Given the description of an element on the screen output the (x, y) to click on. 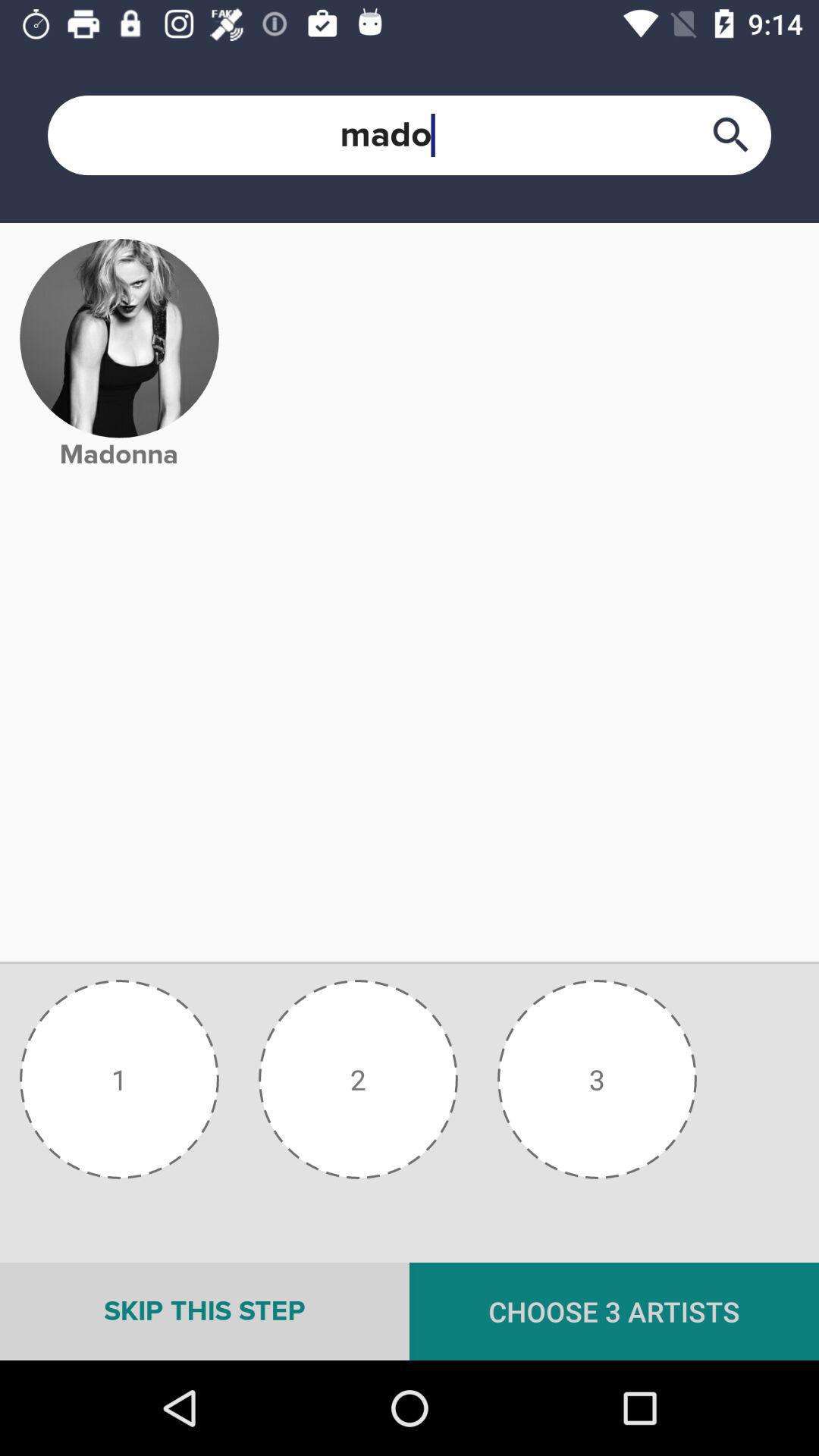
click the mado icon (409, 135)
